Given the description of an element on the screen output the (x, y) to click on. 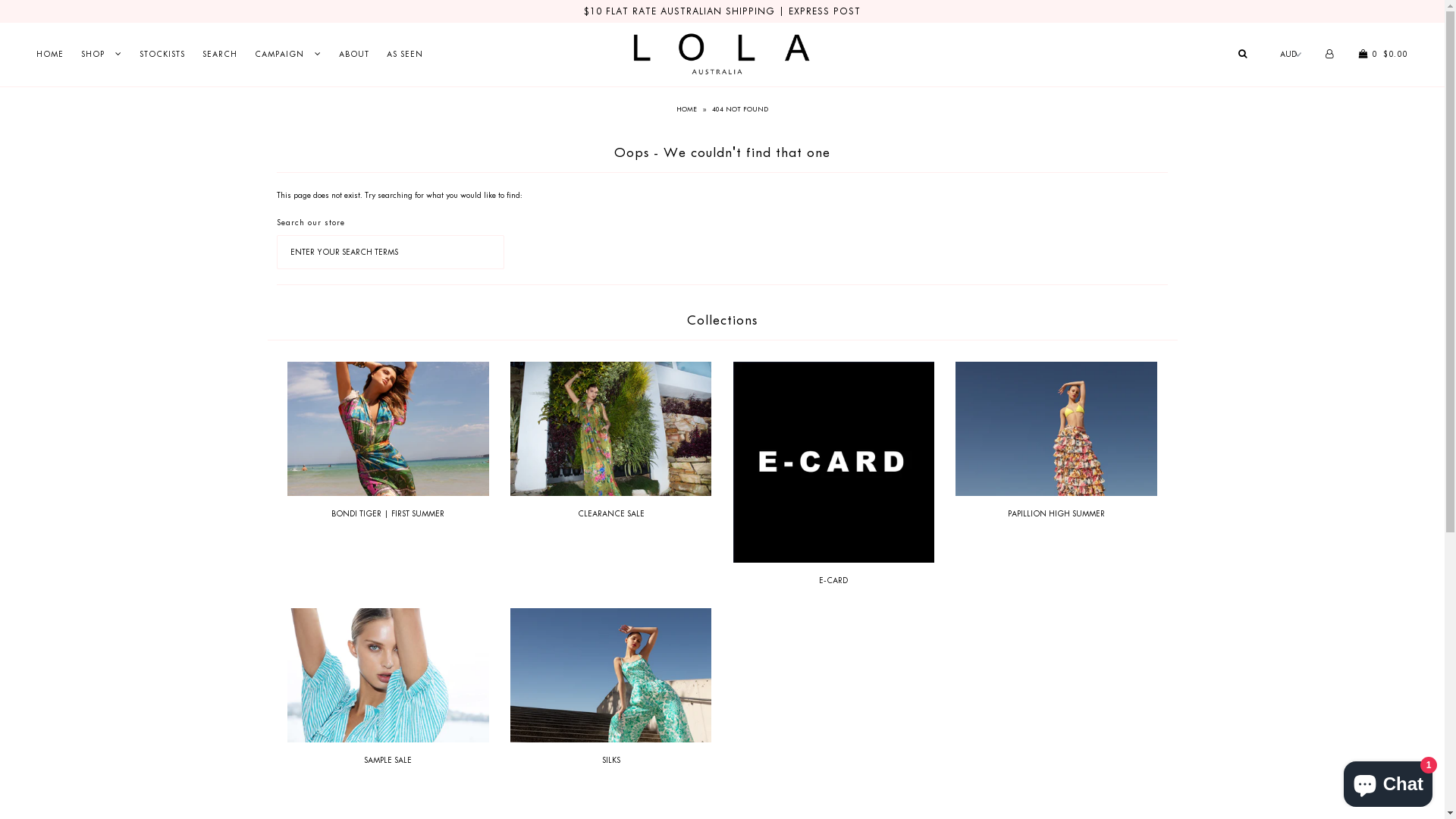
AS SEEN Element type: text (404, 54)
E-CARD Element type: text (833, 580)
SILKS Element type: text (611, 760)
SAMPLE SALE Element type: text (387, 760)
ABOUT Element type: text (353, 54)
STOCKISTS Element type: text (161, 54)
Shopify online store chat Element type: hover (1388, 780)
  0  $0.00 Element type: text (1381, 54)
SHOP Element type: text (101, 54)
BONDI TIGER | FIRST SUMMER Element type: text (387, 513)
PAPILLION HIGH SUMMER Element type: text (1055, 513)
CLEARANCE SALE Element type: text (610, 513)
HOME Element type: text (49, 54)
HOME Element type: text (688, 108)
$10 FLAT RATE AUSTRALIAN SHIPPING | EXPRESS POST Element type: text (721, 10)
SEARCH Element type: text (219, 54)
CAMPAIGN Element type: text (288, 54)
